Given the description of an element on the screen output the (x, y) to click on. 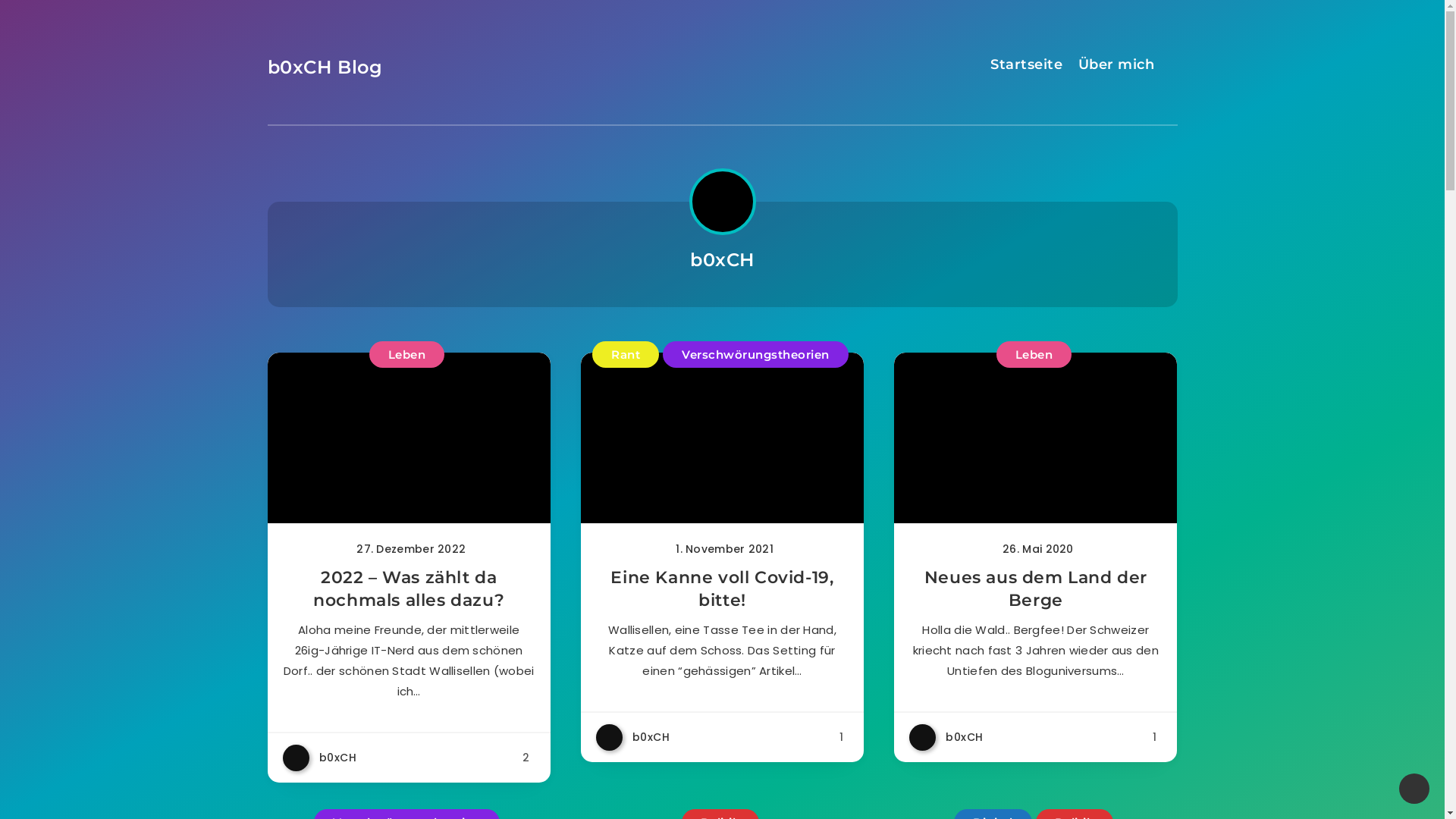
b0xCH Blog Element type: text (324, 67)
1 Element type: text (1157, 737)
Neues aus dem Land der Berge Element type: text (1035, 590)
Rant Element type: text (625, 354)
2 Element type: text (528, 757)
b0xCH Element type: text (319, 757)
b0xCH Element type: text (946, 737)
1 Element type: text (844, 737)
Leben Element type: text (407, 354)
Startseite Element type: text (1026, 66)
b0xCH Element type: text (633, 737)
Leben Element type: text (1034, 354)
Eine Kanne voll Covid-19, bitte! Element type: text (721, 590)
